Given the description of an element on the screen output the (x, y) to click on. 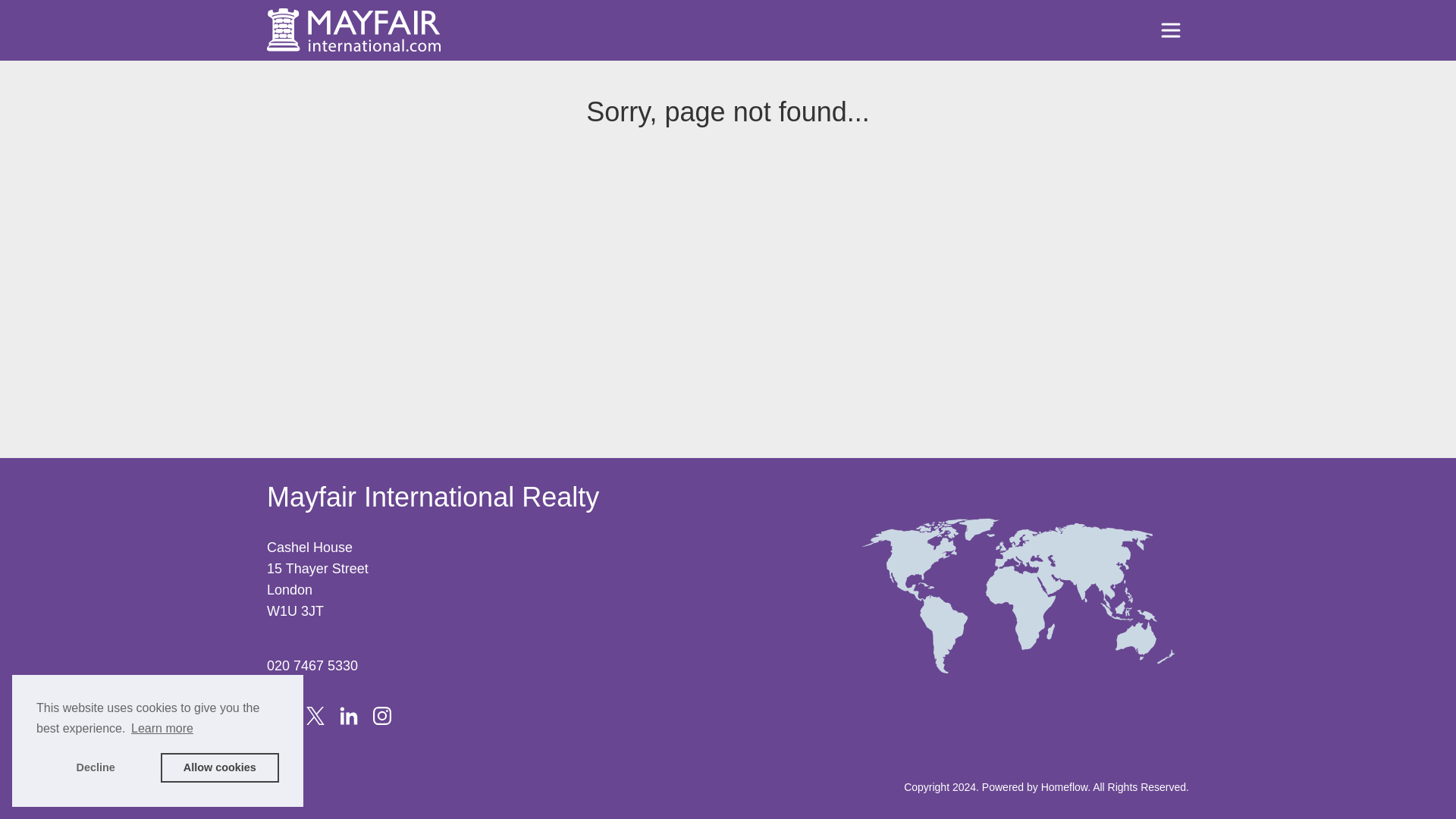
Homeflow (1064, 787)
Allow cookies (219, 767)
Decline (95, 767)
Learn more (162, 728)
020 7467 5330 (312, 665)
